Given the description of an element on the screen output the (x, y) to click on. 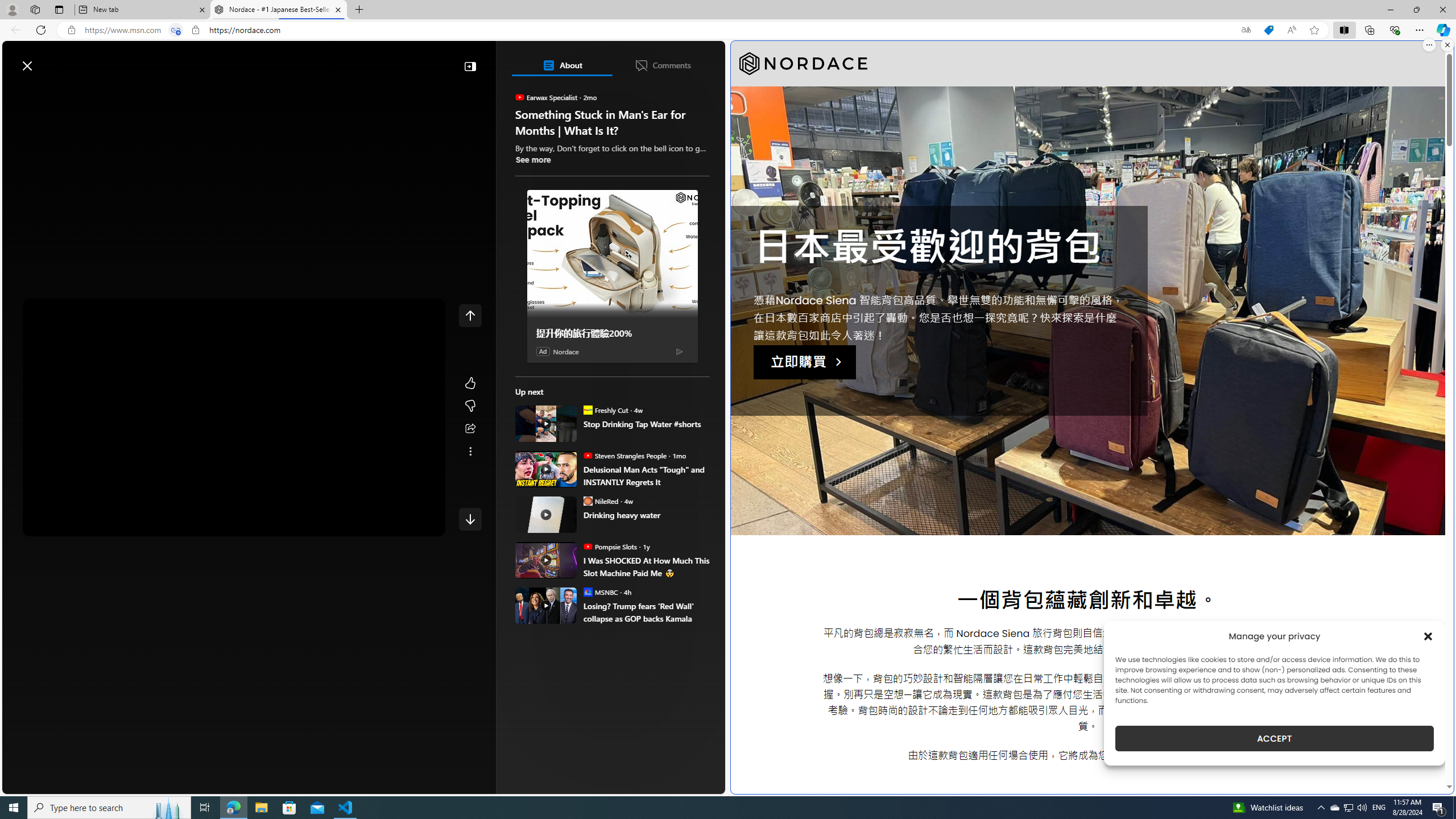
Tabs in split screen (175, 29)
